Given the description of an element on the screen output the (x, y) to click on. 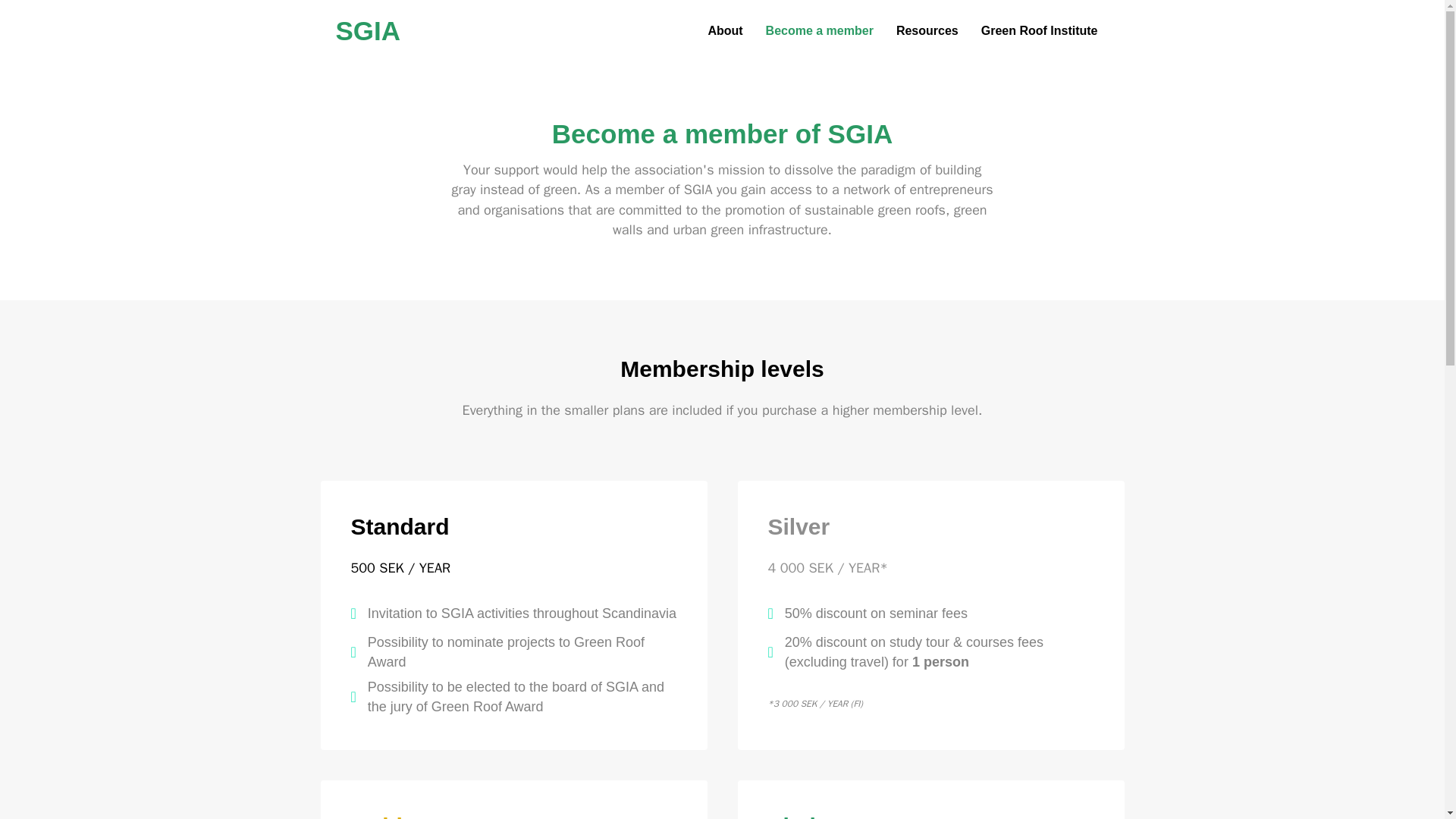
About (724, 30)
SGIA (457, 31)
Resources (927, 30)
Green Roof Institute (1039, 30)
Become a member (819, 30)
